Given the description of an element on the screen output the (x, y) to click on. 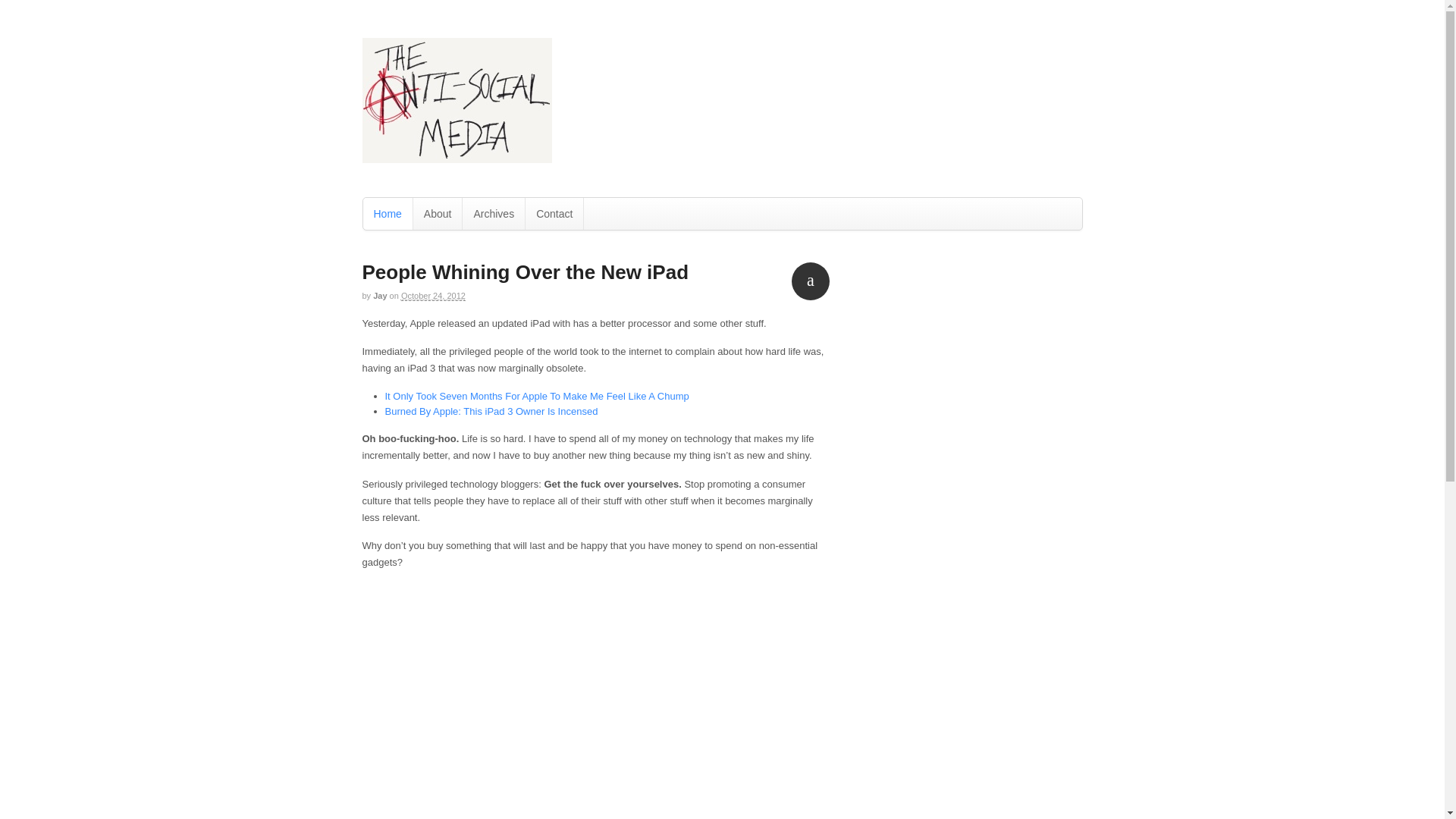
2012-10-24T06:30:24-0500 (433, 296)
Jay (379, 295)
Posts by Jay (379, 295)
Aside (810, 281)
Burned By Apple: This iPad 3 Owner Is Incensed (491, 410)
Breaking Connections Since 2010 (456, 154)
Contact (554, 214)
About (438, 214)
People Whining Over the New iPad (525, 272)
Archives (493, 214)
Permalink to People Whining Over the New iPad (525, 272)
Aside (810, 281)
Home (387, 214)
